Given the description of an element on the screen output the (x, y) to click on. 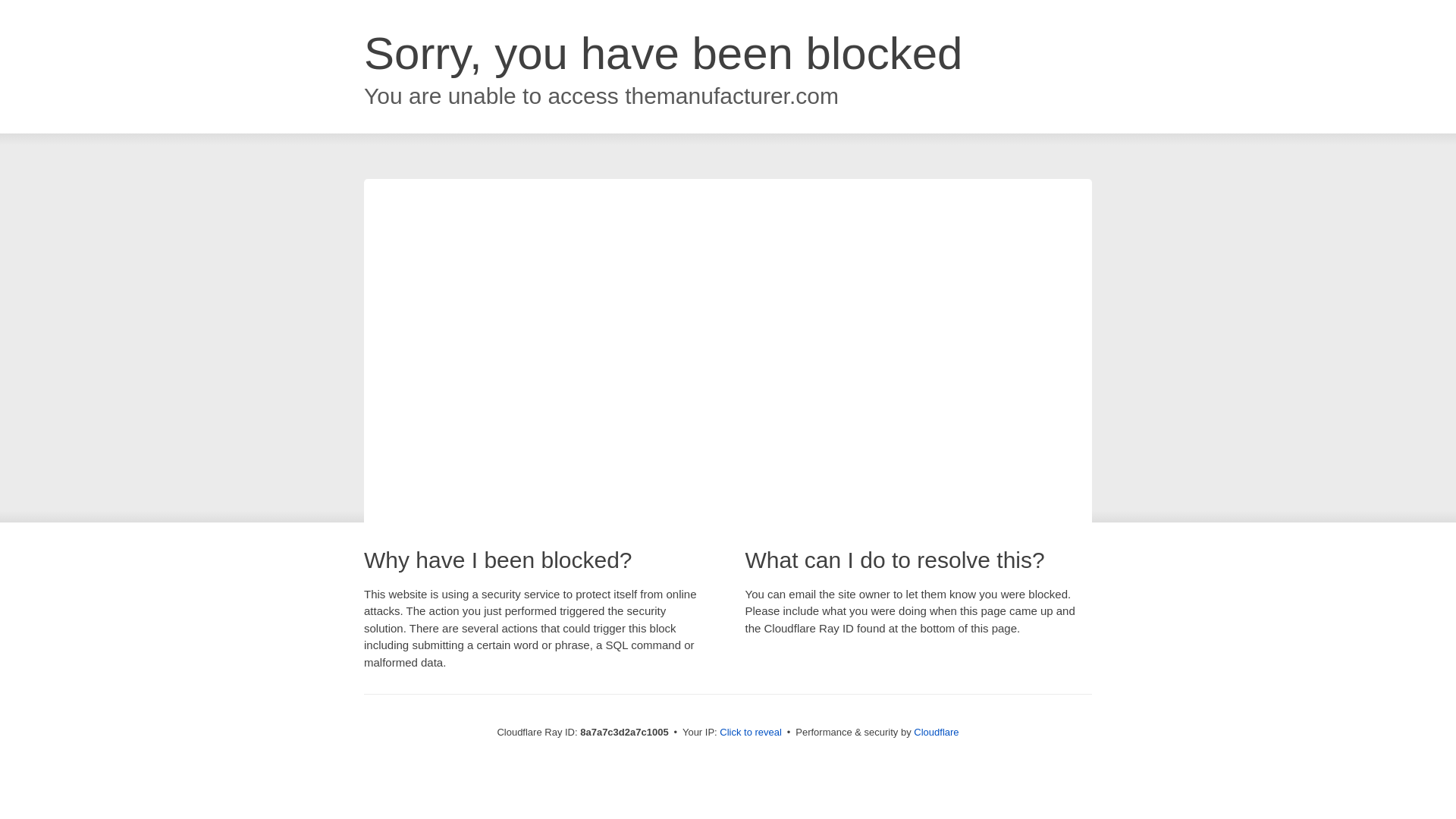
Cloudflare (936, 731)
Click to reveal (750, 732)
